Given the description of an element on the screen output the (x, y) to click on. 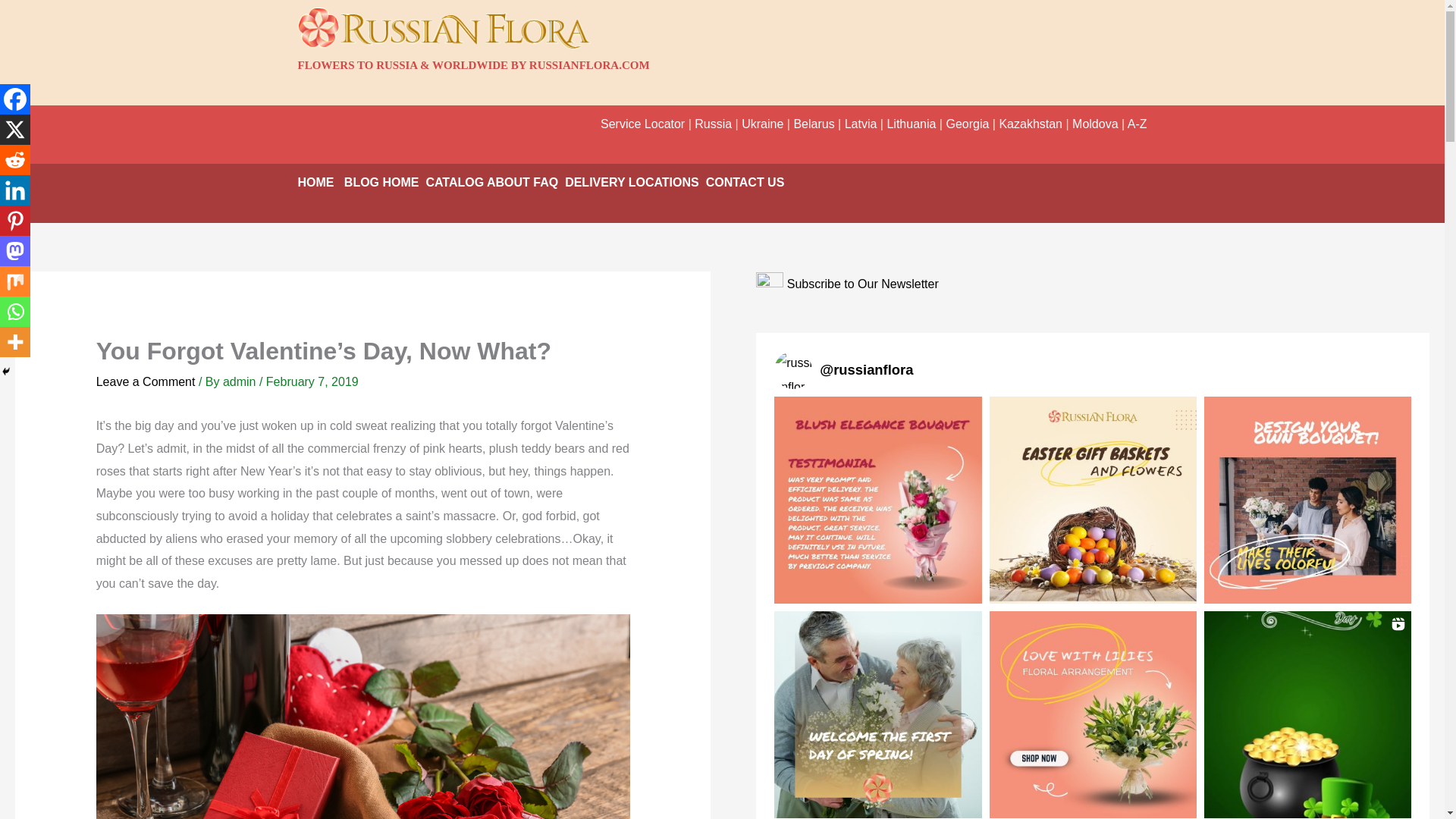
Russia (713, 123)
BLOG HOME (381, 182)
Ukraine (762, 123)
ABOUT (507, 182)
Lithuania (911, 123)
admin (240, 381)
Georgia (966, 123)
 CONTACT US (742, 182)
A-Z (1136, 123)
View all posts by admin (240, 381)
